Given the description of an element on the screen output the (x, y) to click on. 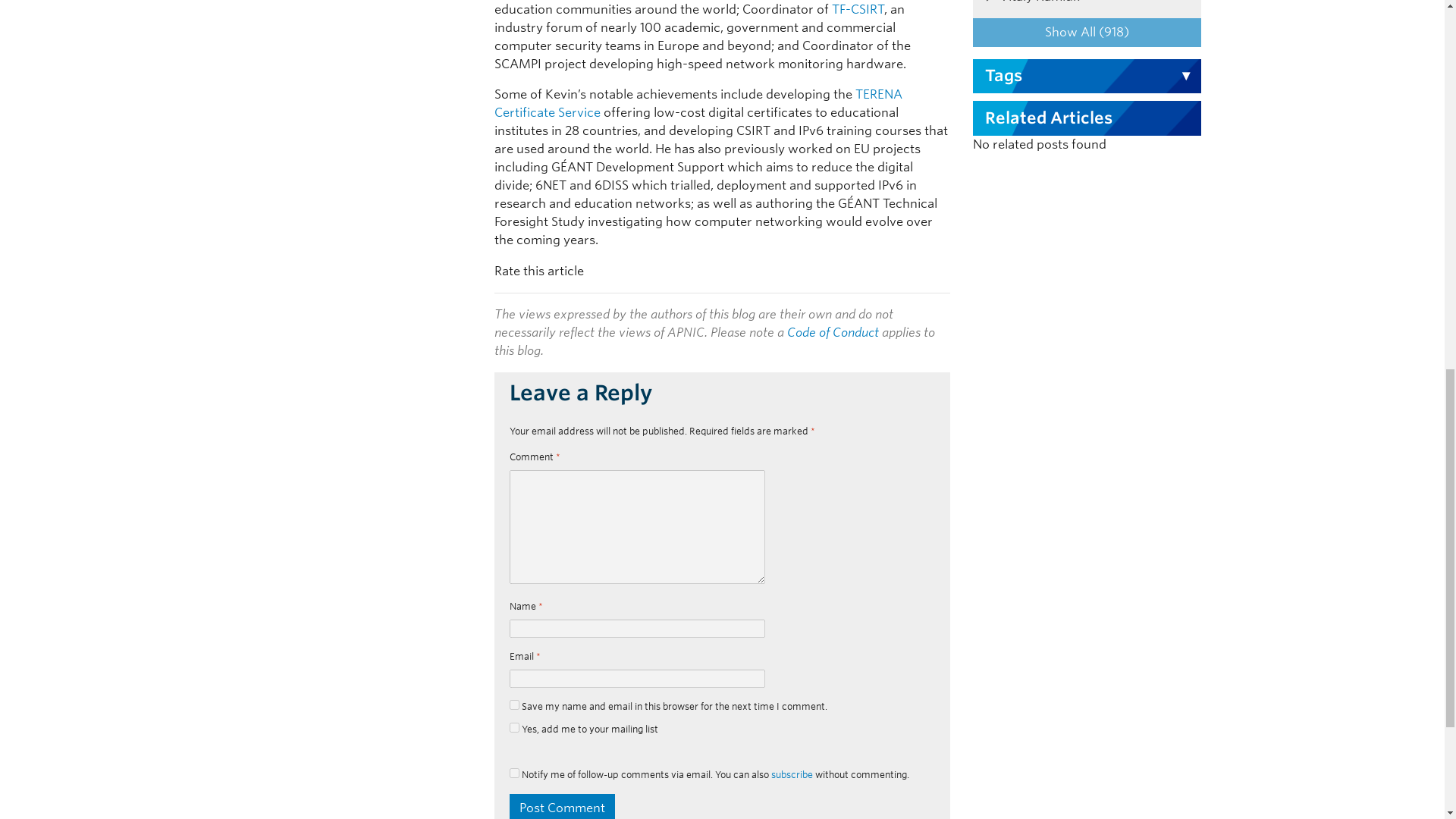
Post Comment (561, 806)
1 (514, 727)
yes (514, 705)
yes (514, 773)
